Given the description of an element on the screen output the (x, y) to click on. 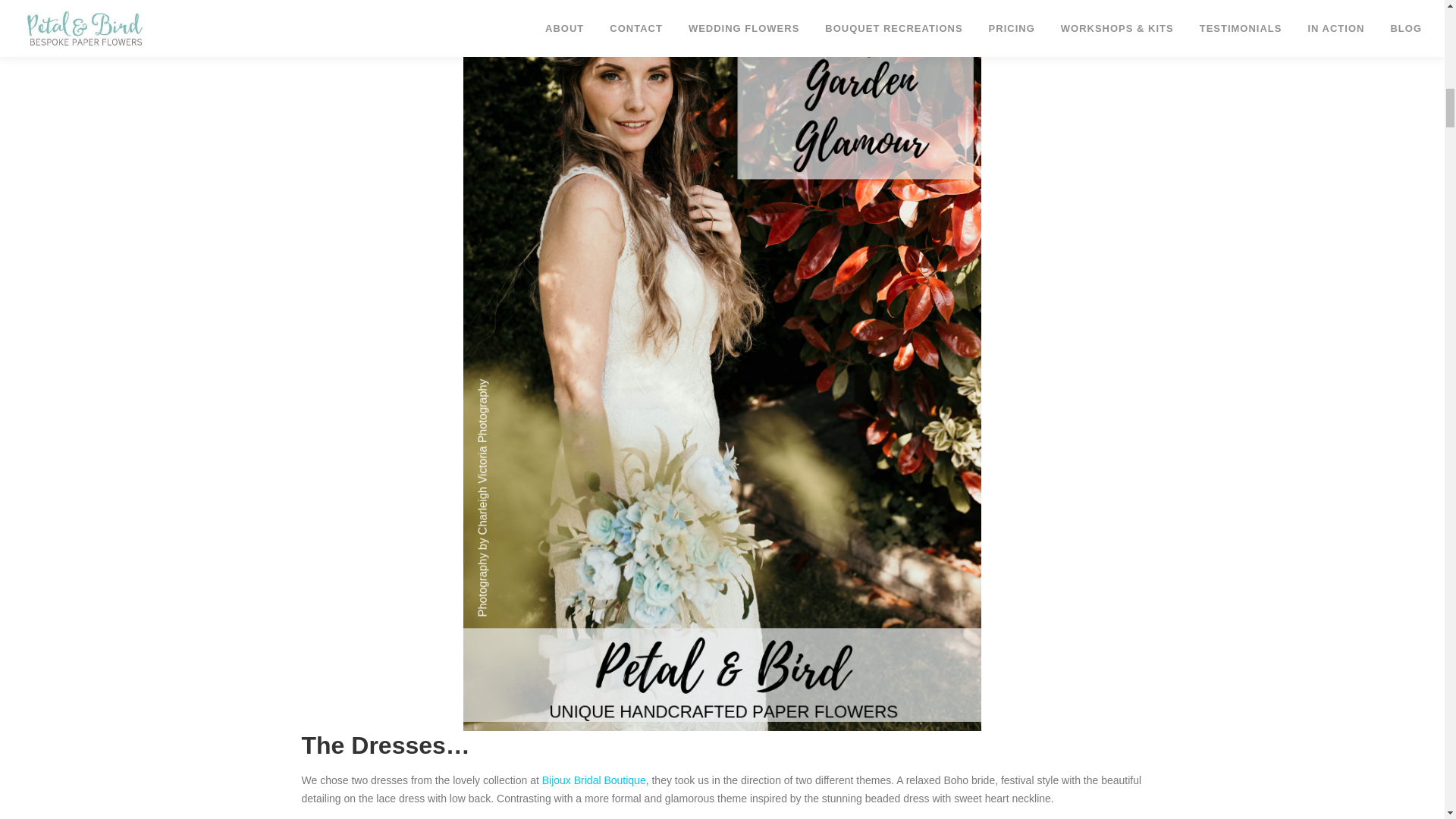
Bijoux Bridal Boutique (593, 779)
